Given the description of an element on the screen output the (x, y) to click on. 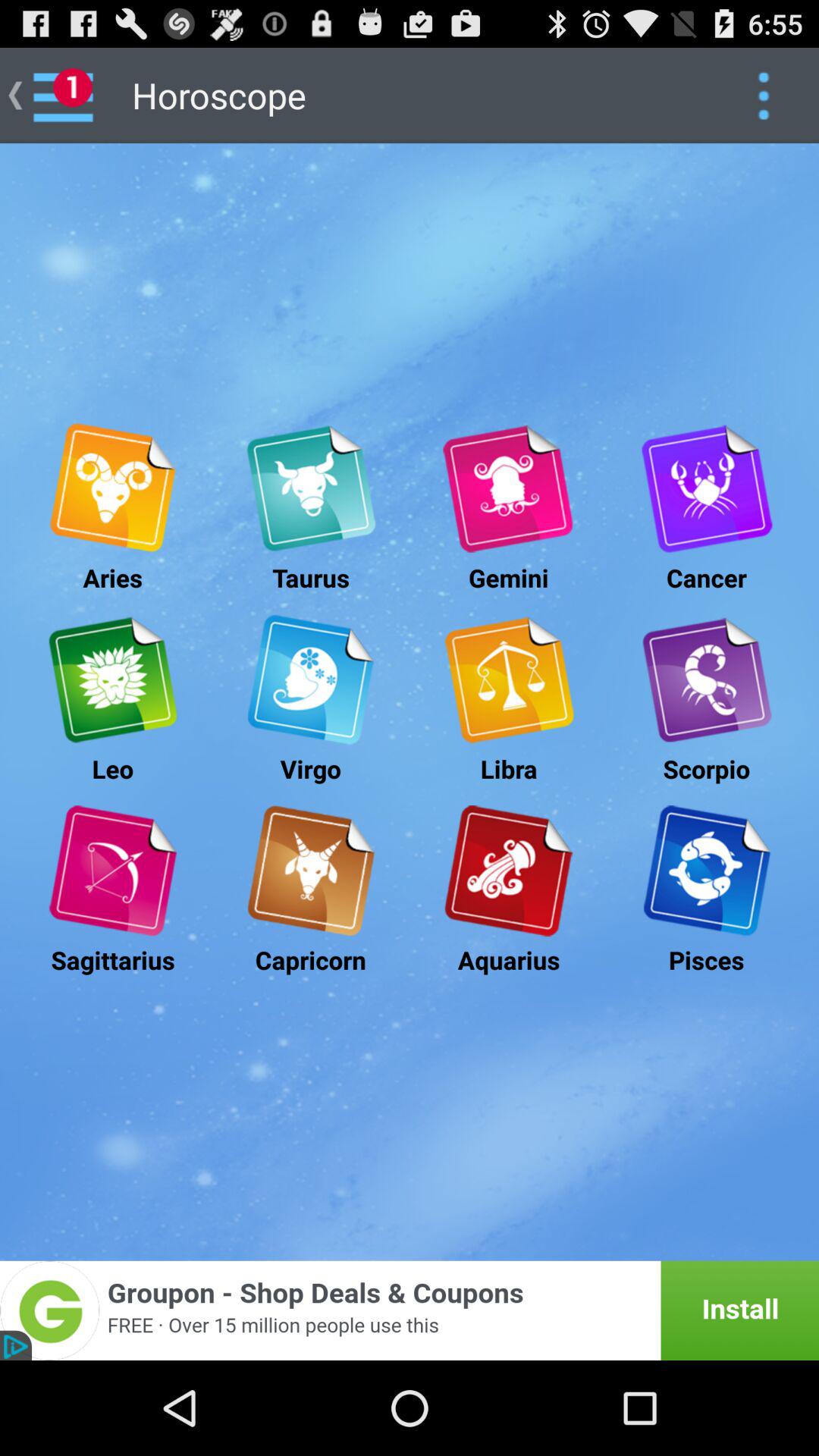
look libra horoscope (508, 679)
